Given the description of an element on the screen output the (x, y) to click on. 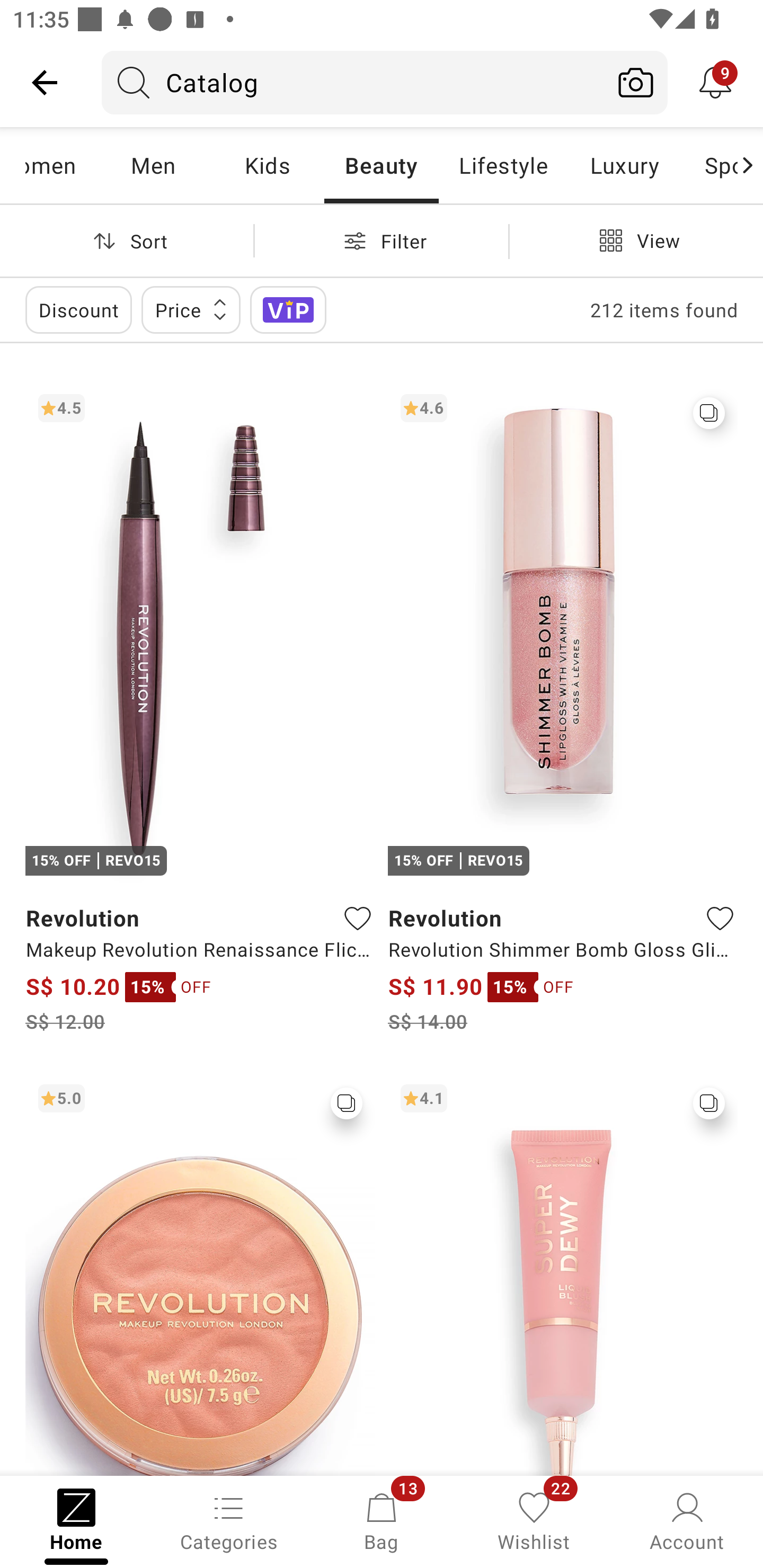
Navigate up (44, 82)
Catalog (352, 82)
Men (152, 165)
Kids (266, 165)
Lifestyle (502, 165)
Luxury (623, 165)
Sort (126, 240)
Filter (381, 240)
View (636, 240)
Discount (78, 309)
Price (190, 309)
5.0 (200, 1272)
4.1 (562, 1272)
Categories (228, 1519)
Bag, 13 new notifications Bag (381, 1519)
Wishlist, 22 new notifications Wishlist (533, 1519)
Account (686, 1519)
